Given the description of an element on the screen output the (x, y) to click on. 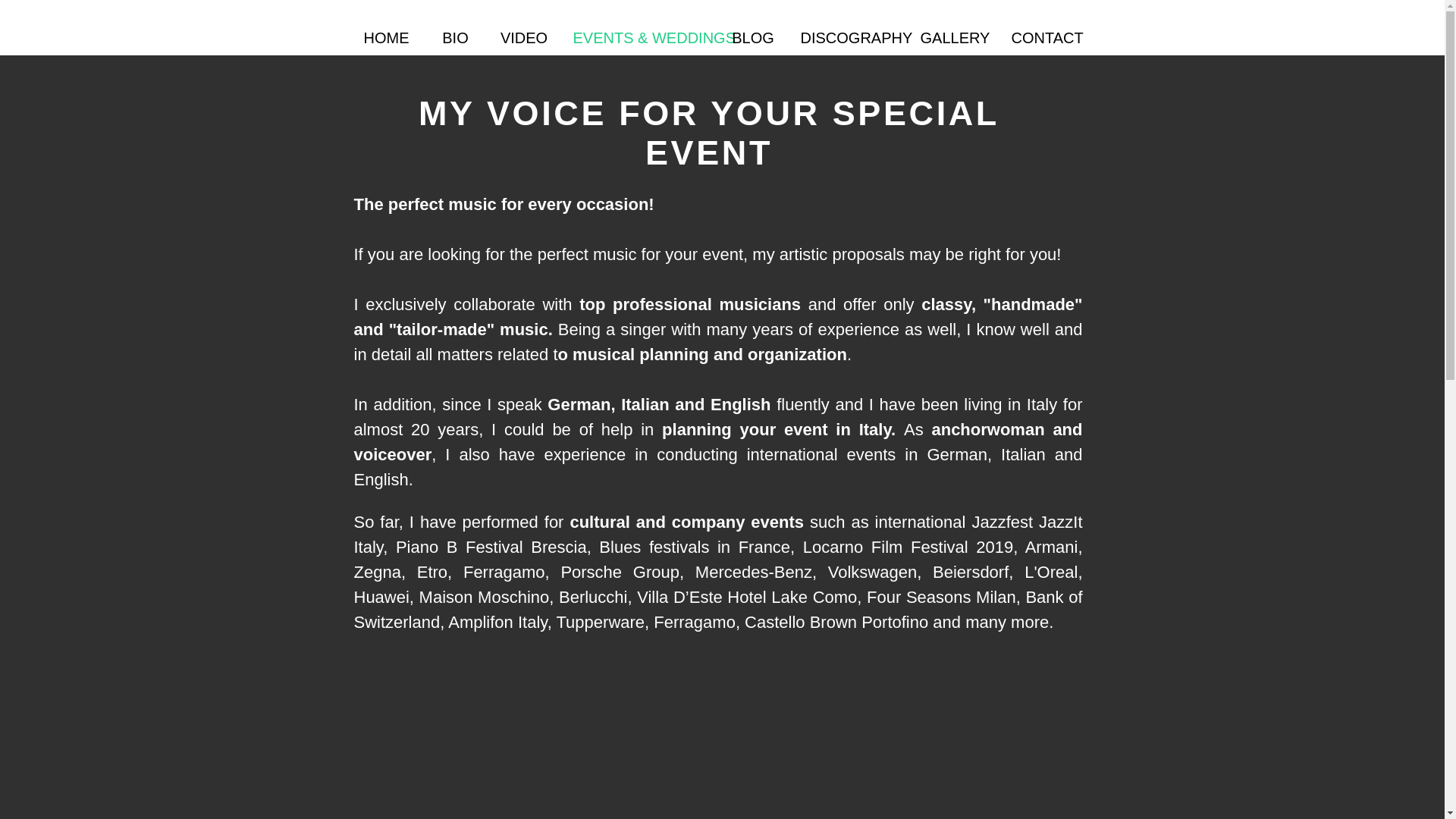
CONTACT (1044, 37)
VIDEO (524, 37)
BLOG (753, 37)
BIO (455, 37)
HOME (387, 37)
DISCOGRAPHY (848, 37)
GALLERY (953, 37)
